Given the description of an element on the screen output the (x, y) to click on. 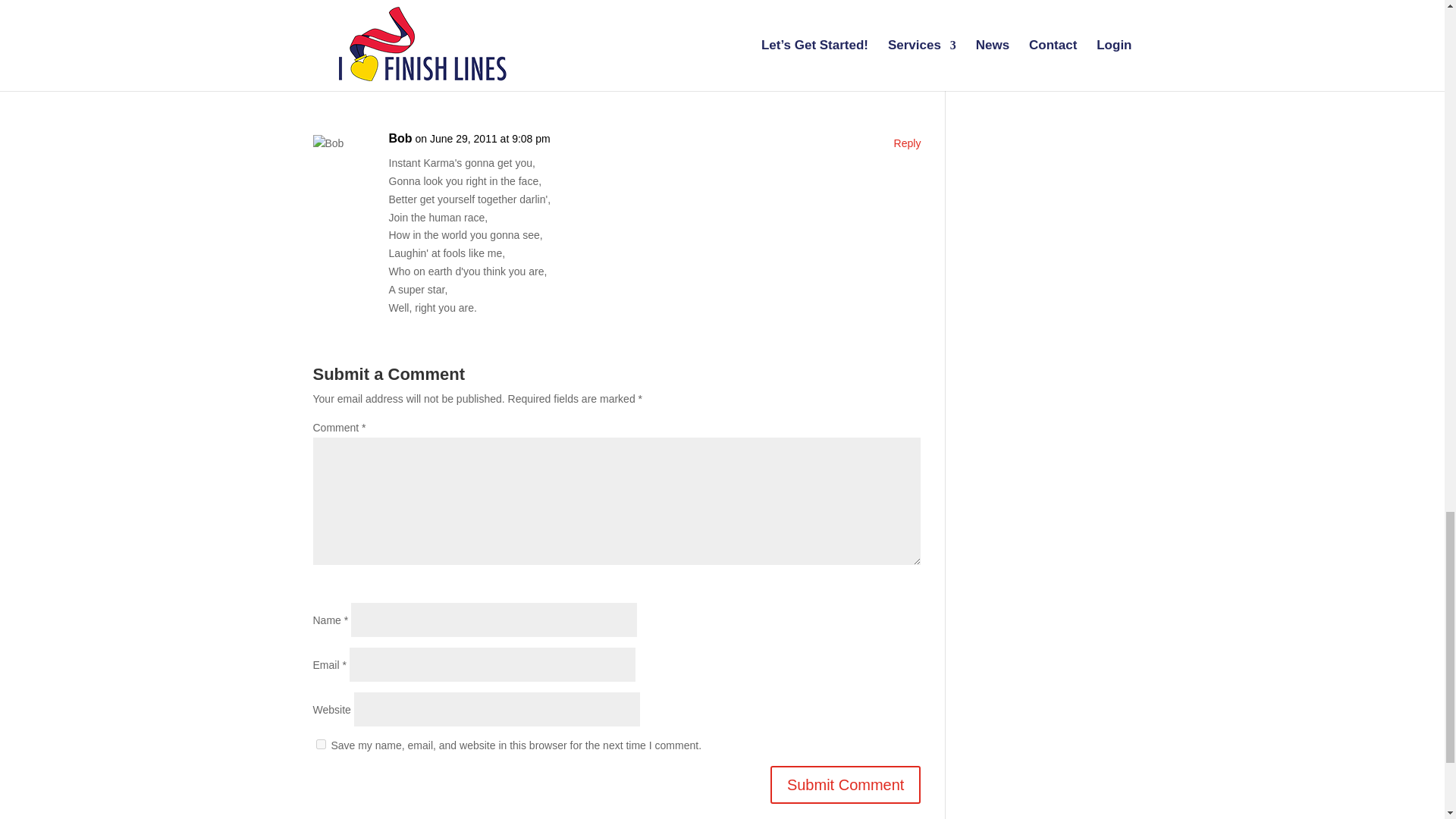
Reply (907, 41)
Viper (403, 36)
Submit Comment (845, 784)
Submit Comment (845, 784)
Bob (400, 138)
yes (319, 744)
Reply (907, 144)
